Given the description of an element on the screen output the (x, y) to click on. 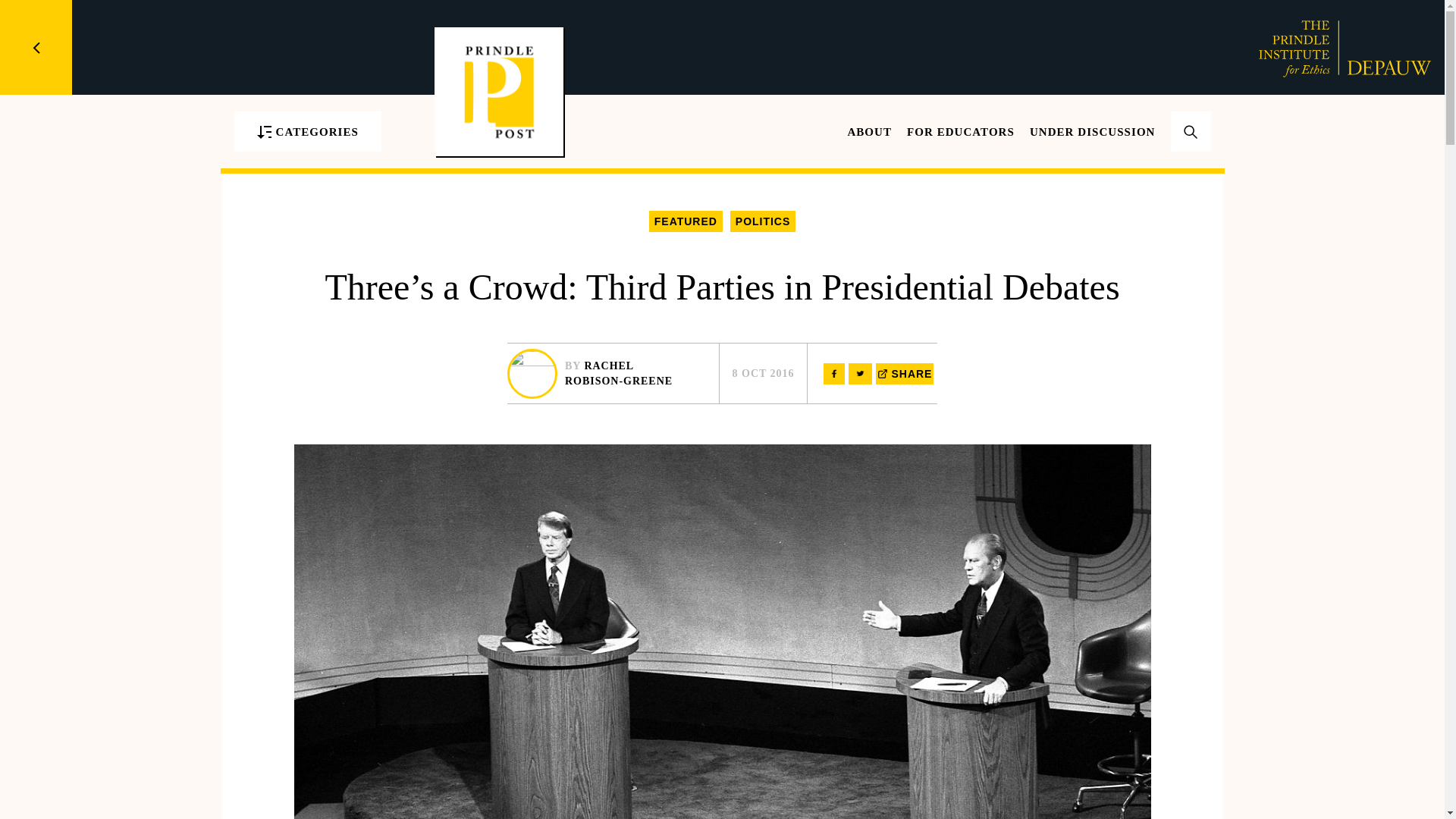
CATEGORIES (306, 131)
ABOUT (869, 131)
POLITICS (762, 220)
BY RACHEL ROBISON-GREENE (612, 373)
UNDER DISCUSSION (1092, 131)
GO (1190, 151)
FOR EDUCATORS (960, 131)
FEATURED (685, 220)
